Given the description of an element on the screen output the (x, y) to click on. 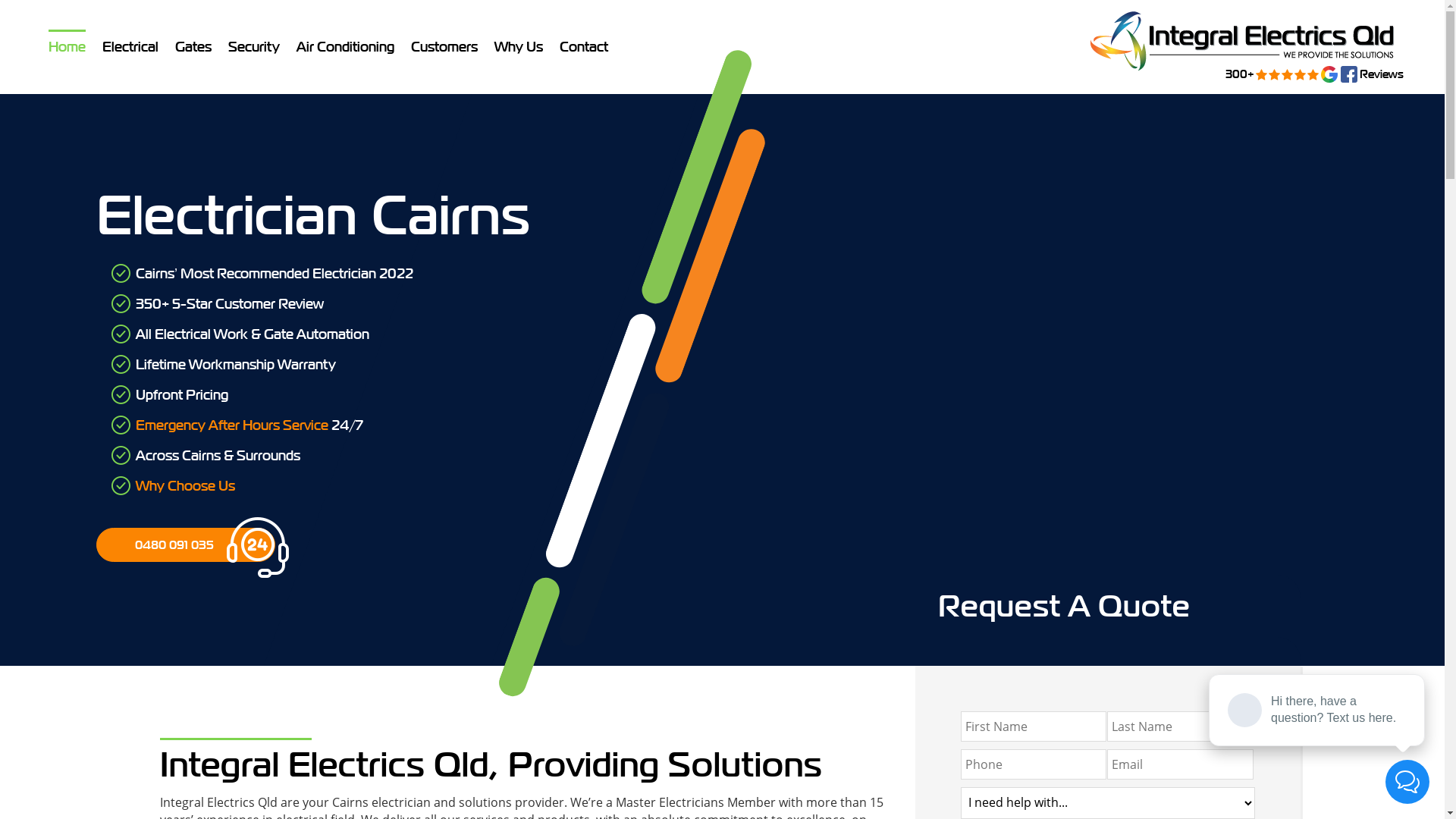
Electrical Element type: text (130, 46)
Air Conditioning Element type: text (344, 46)
300+ Reviews Element type: text (1242, 40)
Why Choose Us Element type: text (185, 485)
Contact Element type: text (583, 46)
Why Us Element type: text (518, 46)
Security Element type: text (253, 46)
Gates Element type: text (193, 46)
Customers Element type: text (444, 46)
Emergency After Hours Service Element type: text (231, 425)
0480 091 035 Element type: text (185, 544)
Home Element type: text (66, 46)
